Given the description of an element on the screen output the (x, y) to click on. 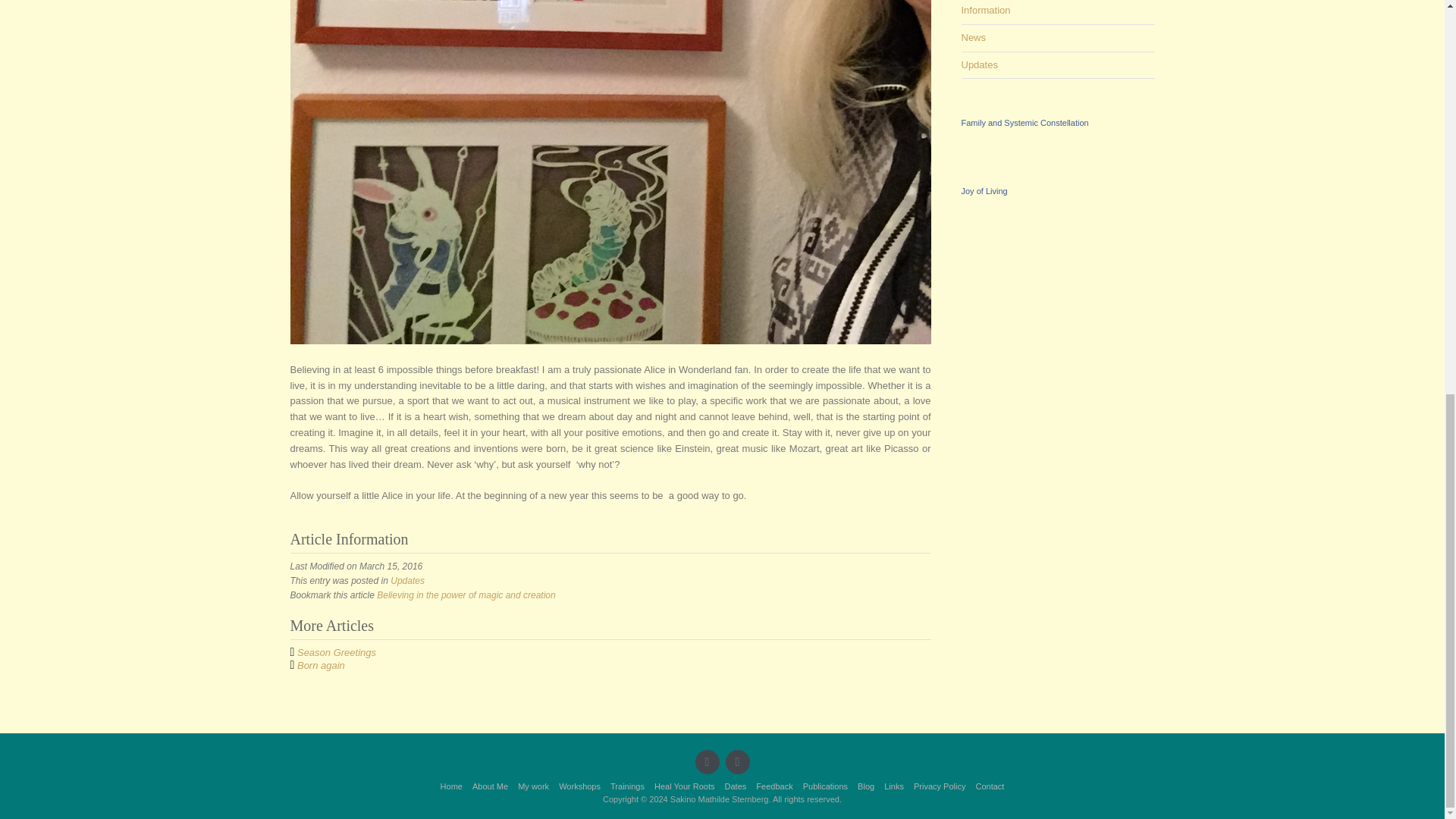
Born again (321, 665)
Facebook (706, 761)
Updates (978, 64)
Instagram (737, 761)
Information (985, 9)
Season Greetings (336, 652)
Believing in the power of magic and creation (465, 594)
Joy of Living (983, 190)
Joy of Living (983, 190)
